Given the description of an element on the screen output the (x, y) to click on. 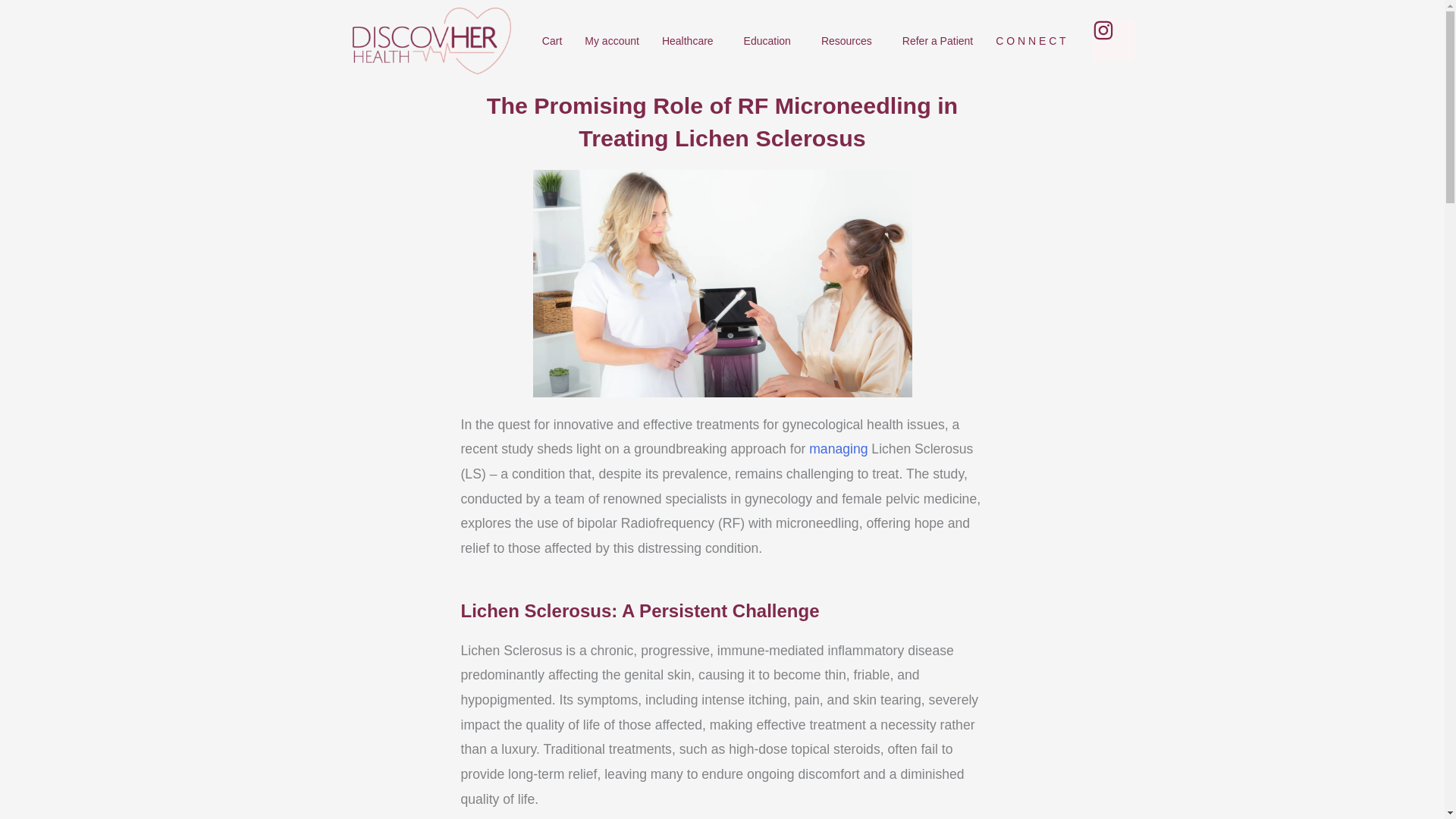
Resources (850, 40)
C O N N E C T (1030, 40)
Healthcare (691, 40)
Instagram (1114, 40)
Cart (552, 40)
Refer a Patient (937, 40)
Education (770, 40)
My account (611, 40)
